Given the description of an element on the screen output the (x, y) to click on. 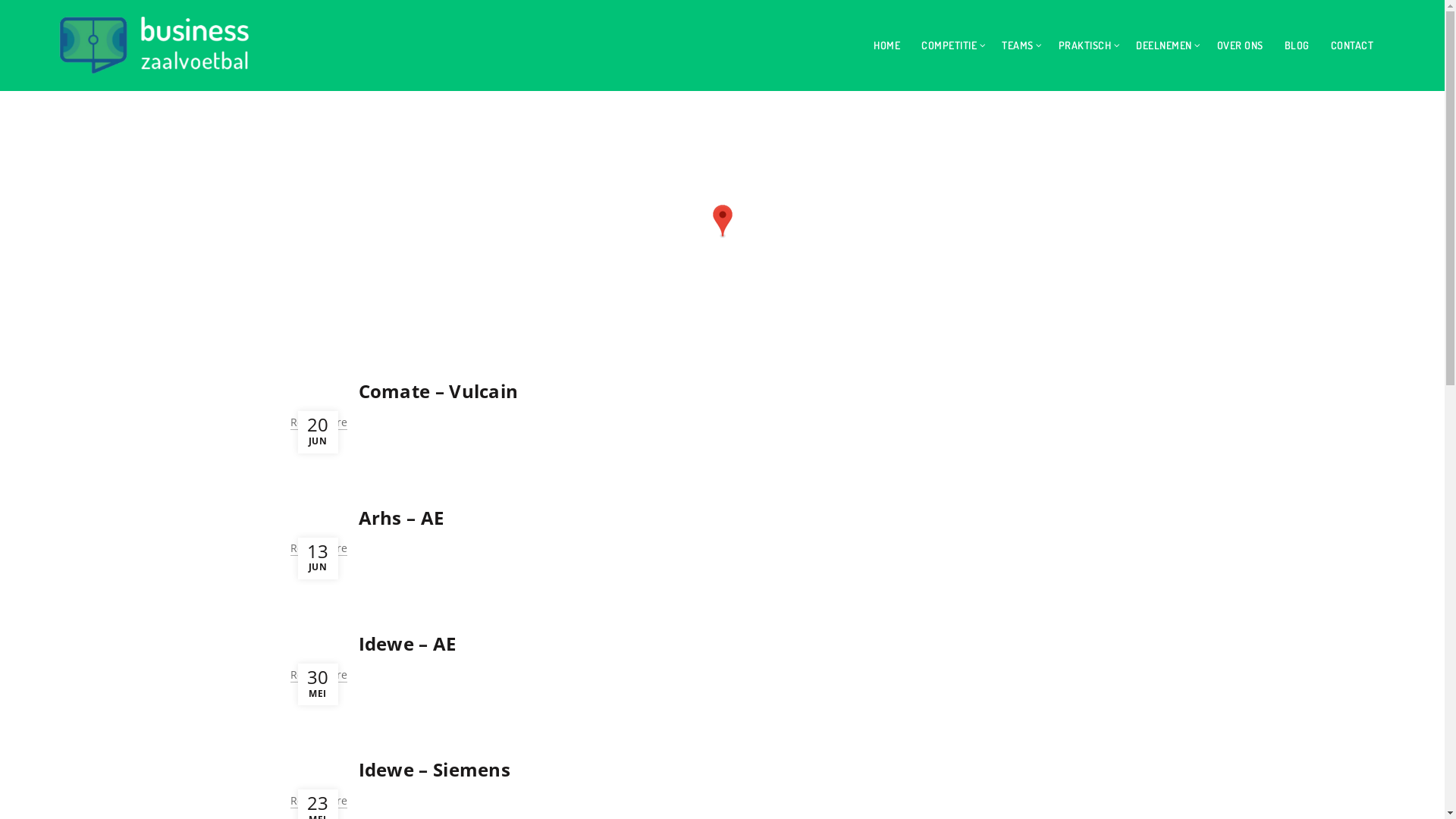
TEAMS Element type: text (1017, 45)
Read More Element type: text (318, 422)
PRAKTISCH Element type: text (1084, 45)
OVER ONS Element type: text (1240, 45)
Read More Element type: text (318, 675)
HOME Element type: text (886, 45)
30
MEI Element type: text (317, 684)
Read More Element type: text (318, 548)
13
JUN Element type: text (317, 558)
COMPETITIE Element type: text (948, 45)
BLOG Element type: text (1296, 45)
DEELNEMEN Element type: text (1163, 45)
CONTACT Element type: text (1352, 45)
Read More Element type: text (318, 800)
20
JUN Element type: text (317, 431)
